Given the description of an element on the screen output the (x, y) to click on. 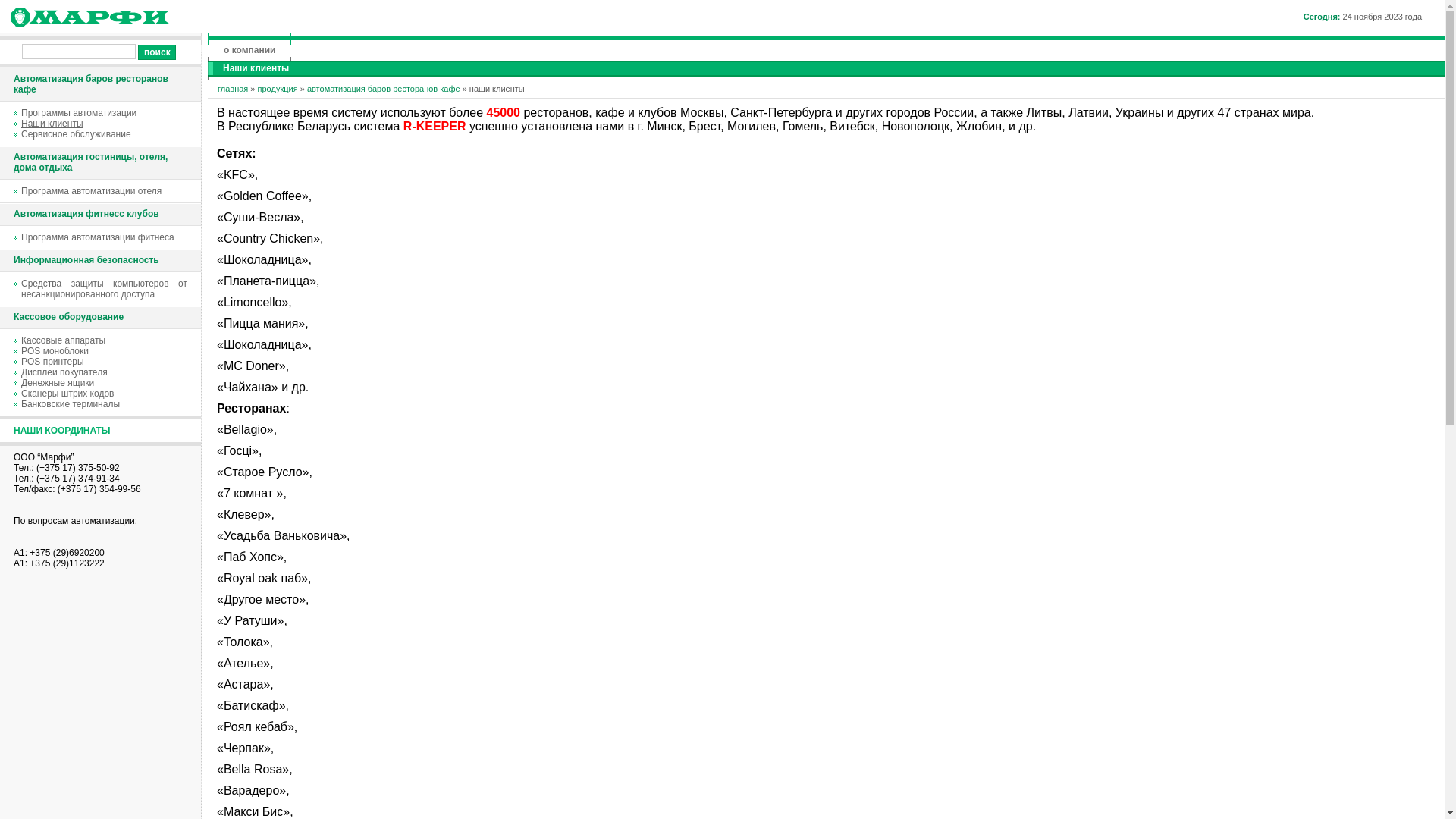
R-KEEPER Element type: text (434, 125)
